Given the description of an element on the screen output the (x, y) to click on. 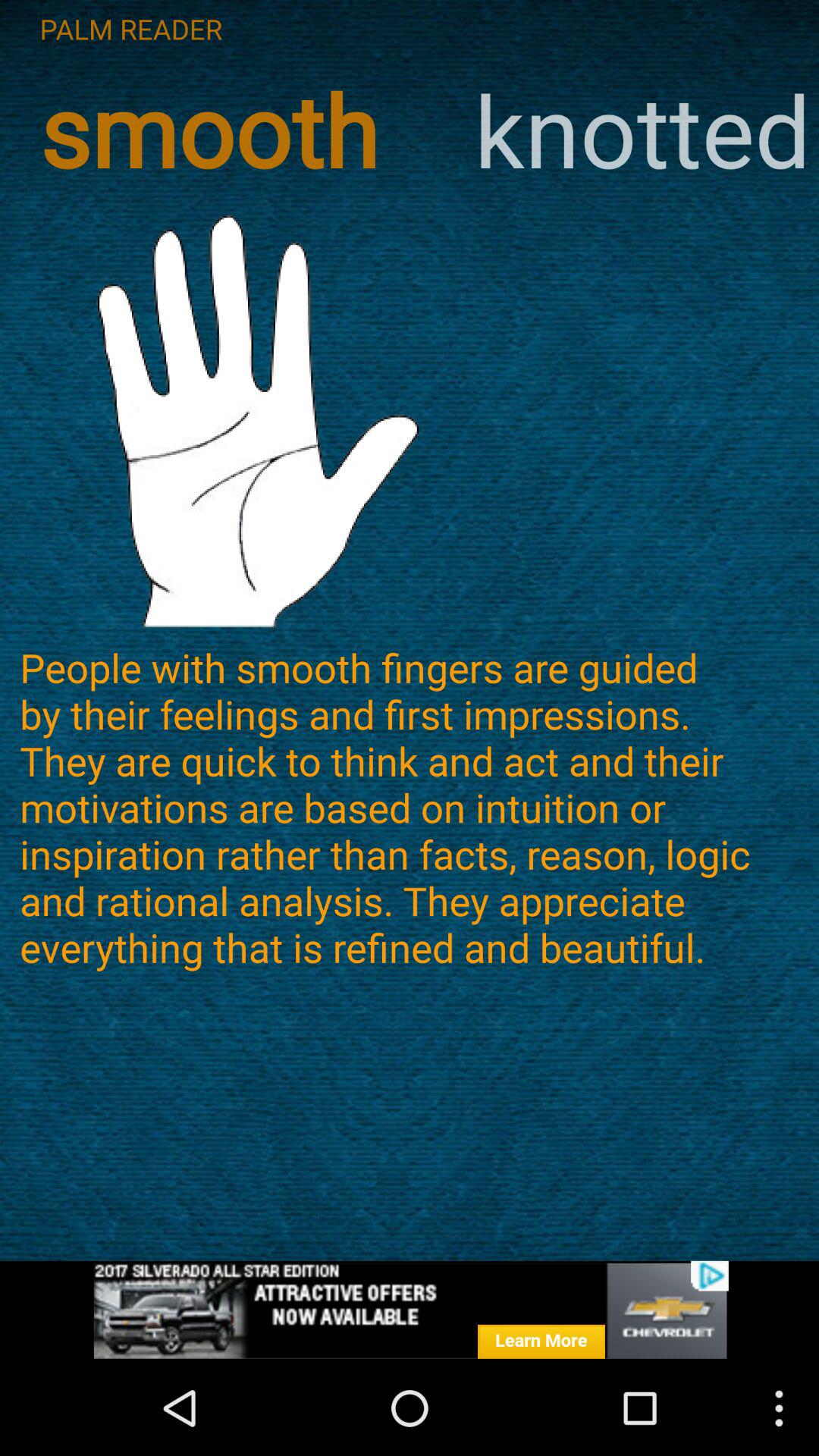
know about the advertisement (409, 1310)
